Given the description of an element on the screen output the (x, y) to click on. 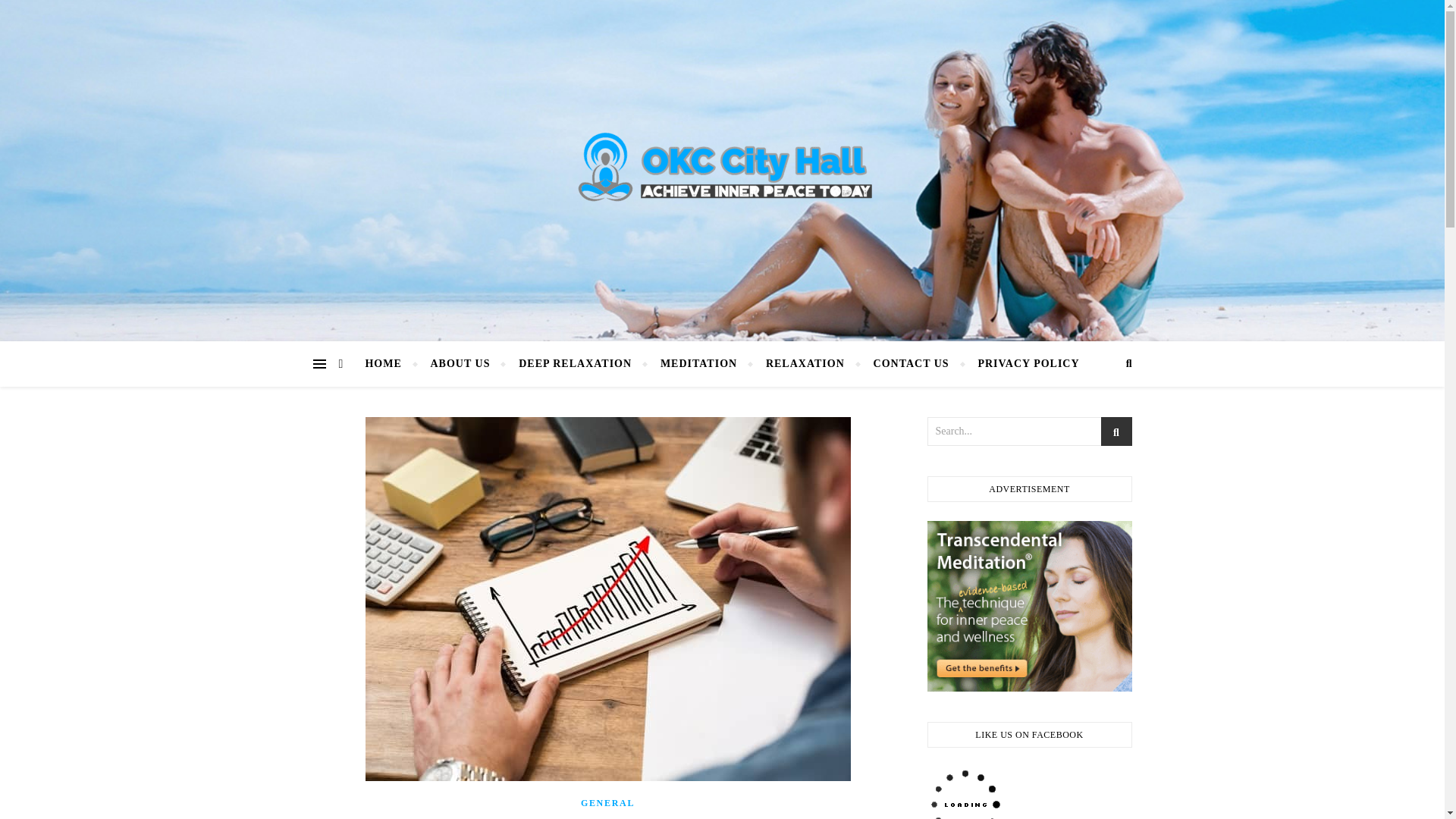
RELAXATION (804, 363)
MEDITATION (698, 363)
CONTACT US (911, 363)
ABOUT US (459, 363)
DEEP RELAXATION (575, 363)
GENERAL (607, 802)
PRIVACY POLICY (1020, 363)
HOME (389, 363)
